Given the description of an element on the screen output the (x, y) to click on. 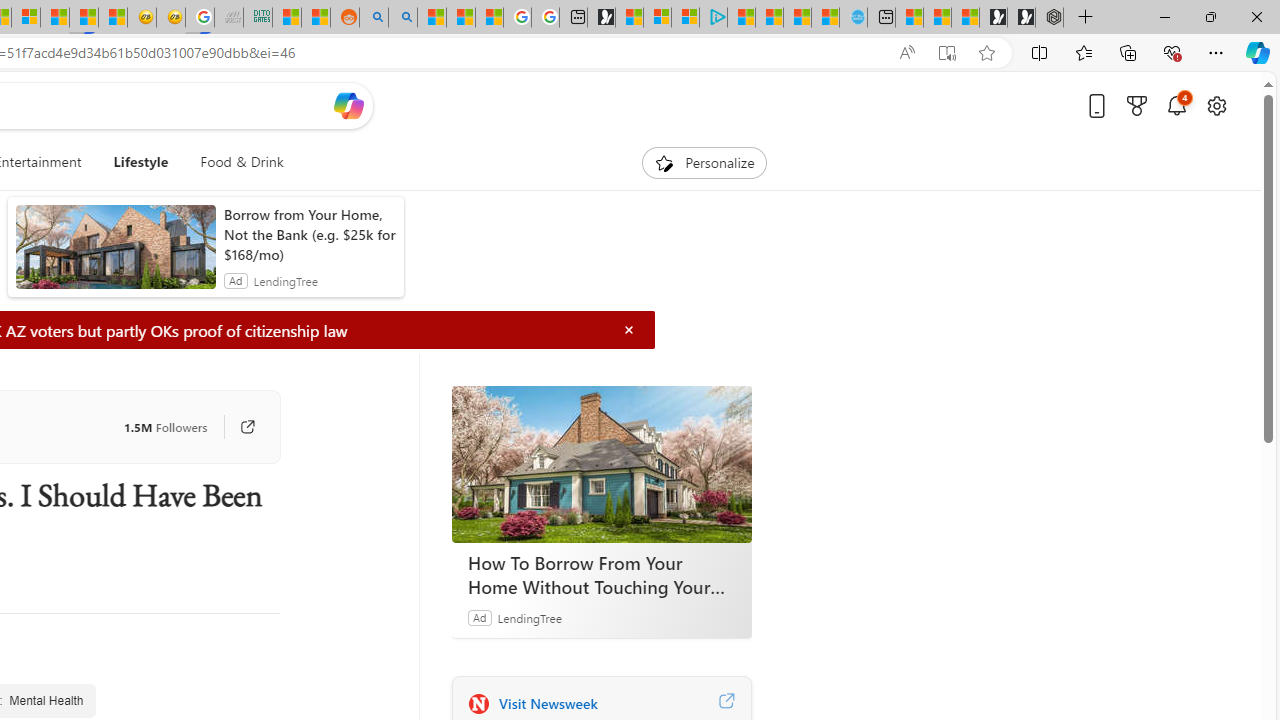
Borrow from Your Home, Not the Bank (e.g. $25k for $168/mo) (308, 234)
Personalize (703, 162)
How To Borrow From Your Home Without Touching Your Mortgage (601, 463)
Navy Quest (229, 17)
LendingTree (528, 617)
